Given the description of an element on the screen output the (x, y) to click on. 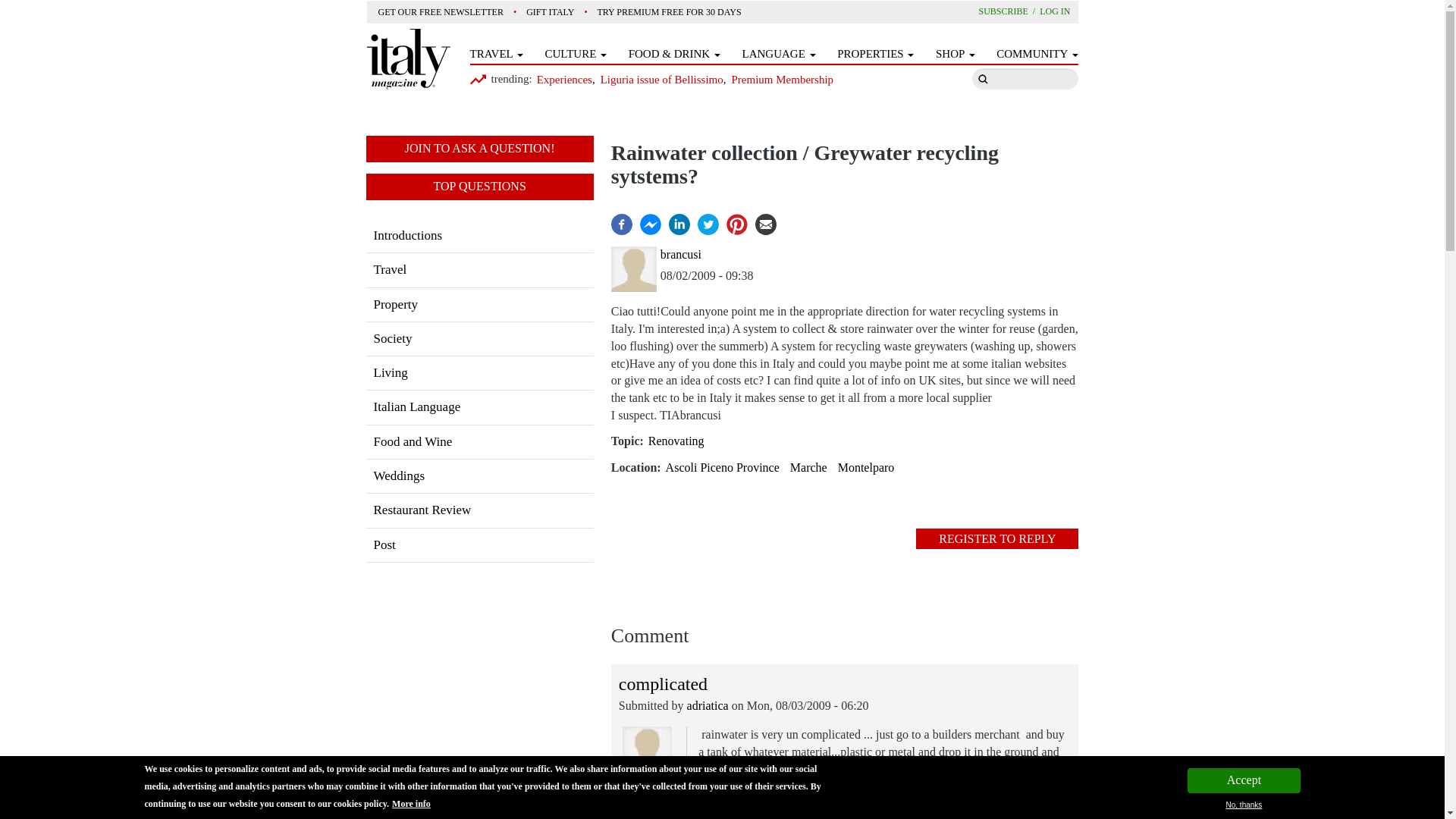
SHOP (955, 53)
Experiences (566, 79)
TRAVEL (496, 53)
CULTURE (575, 53)
GIFT ITALY (550, 11)
Home (407, 58)
LOG IN (1054, 11)
Facebook (621, 223)
Facebook messenger (650, 223)
